Given the description of an element on the screen output the (x, y) to click on. 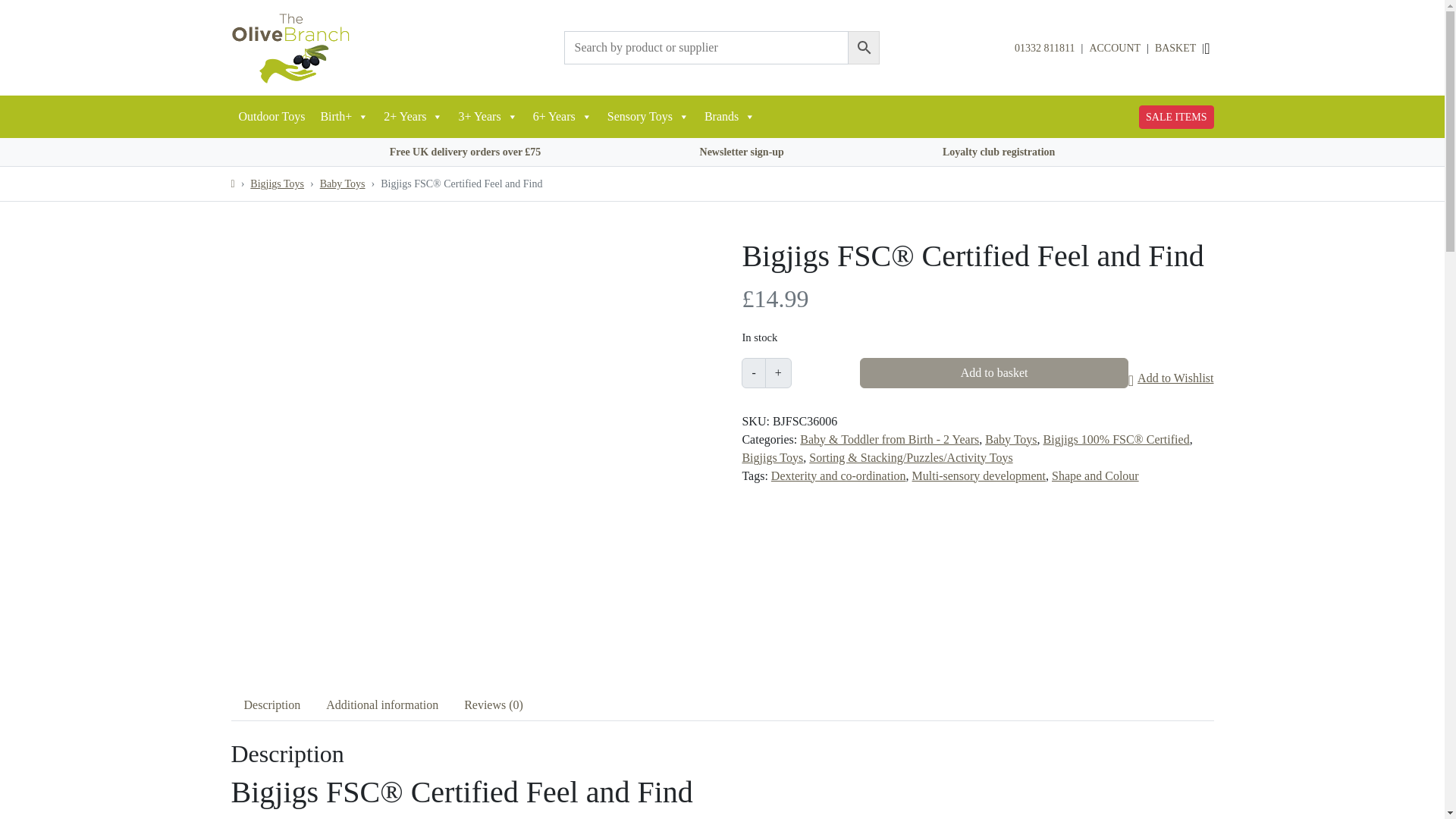
01332 811811 (1044, 48)
ACCOUNT (1114, 48)
Sensory Toys (648, 116)
Outdoor Toys (271, 116)
BASKET (1174, 48)
